Given the description of an element on the screen output the (x, y) to click on. 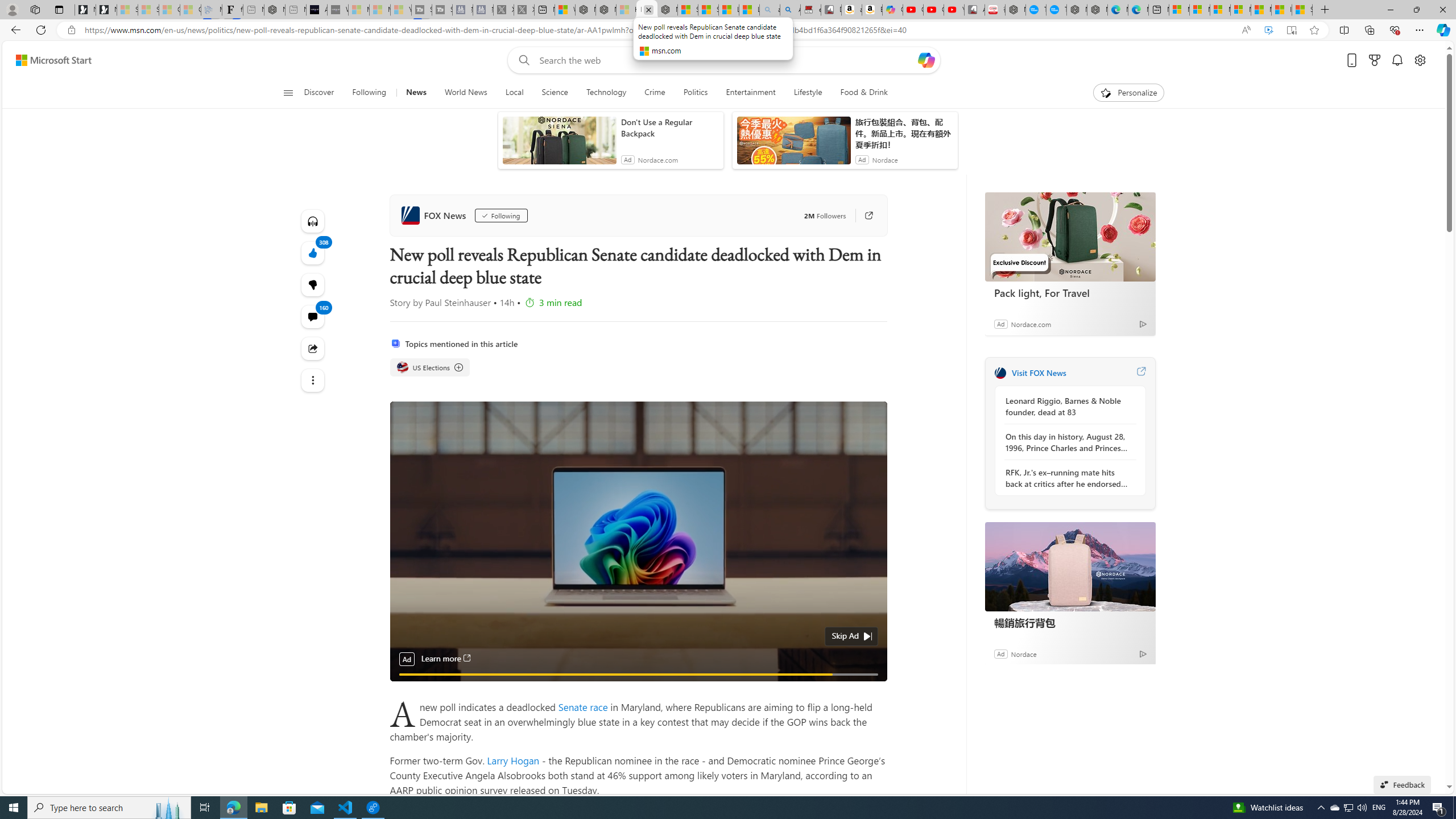
FOX News (435, 215)
amazon.in/dp/B0CX59H5W7/?tag=gsmcom05-21 (851, 9)
anim-content (793, 144)
The most popular Google 'how to' searches (1056, 9)
Nordace - Nordace has arrived Hong Kong (1096, 9)
YouTube Kids - An App Created for Kids to Explore Content (954, 9)
Go to publisher's site (868, 215)
Pause (406, 687)
Leonard Riggio, Barnes & Noble founder, dead at 83 (1066, 406)
To get missing image descriptions, open the context menu. (1105, 92)
